Given the description of an element on the screen output the (x, y) to click on. 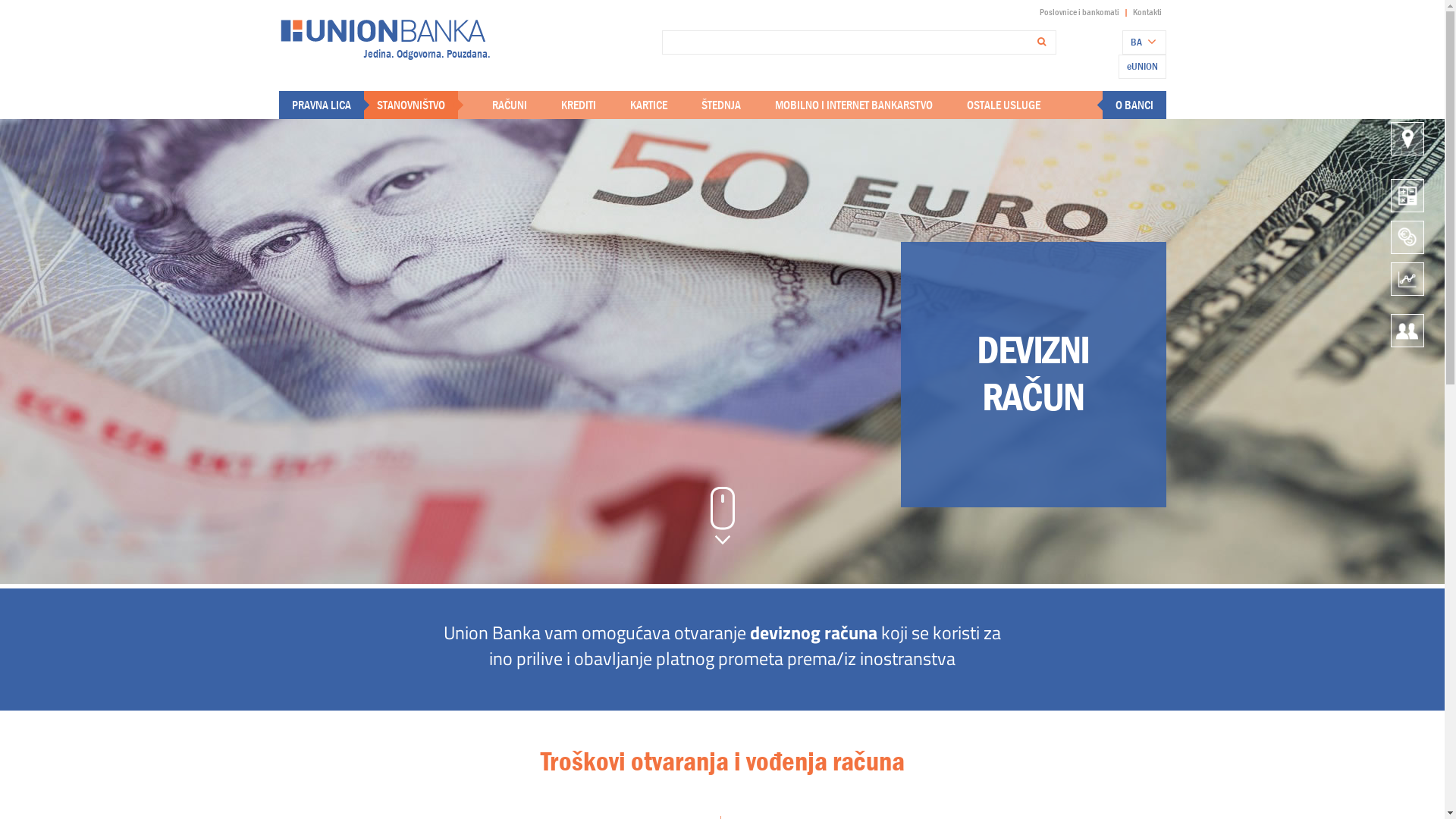
Poslovnice i bankomati Element type: hover (1407, 136)
OSTALE USLUGE Element type: text (1002, 104)
PRAVNA LICA Element type: text (320, 104)
Kontakti Element type: text (1146, 12)
Poslovnice i bankomati Element type: text (1078, 12)
O BANCI Element type: text (1133, 104)
Kontakti Element type: hover (1407, 329)
Naslovna Element type: hover (382, 29)
KREDITI Element type: text (578, 104)
Kursna lista Element type: hover (1407, 277)
MOBILNO I INTERNET BANKARSTVO Element type: text (853, 104)
Konvertor valuta Element type: hover (1407, 235)
Kreditni kalkulator Element type: hover (1407, 194)
eUNION Element type: text (1141, 65)
KARTICE Element type: text (647, 104)
